Given the description of an element on the screen output the (x, y) to click on. 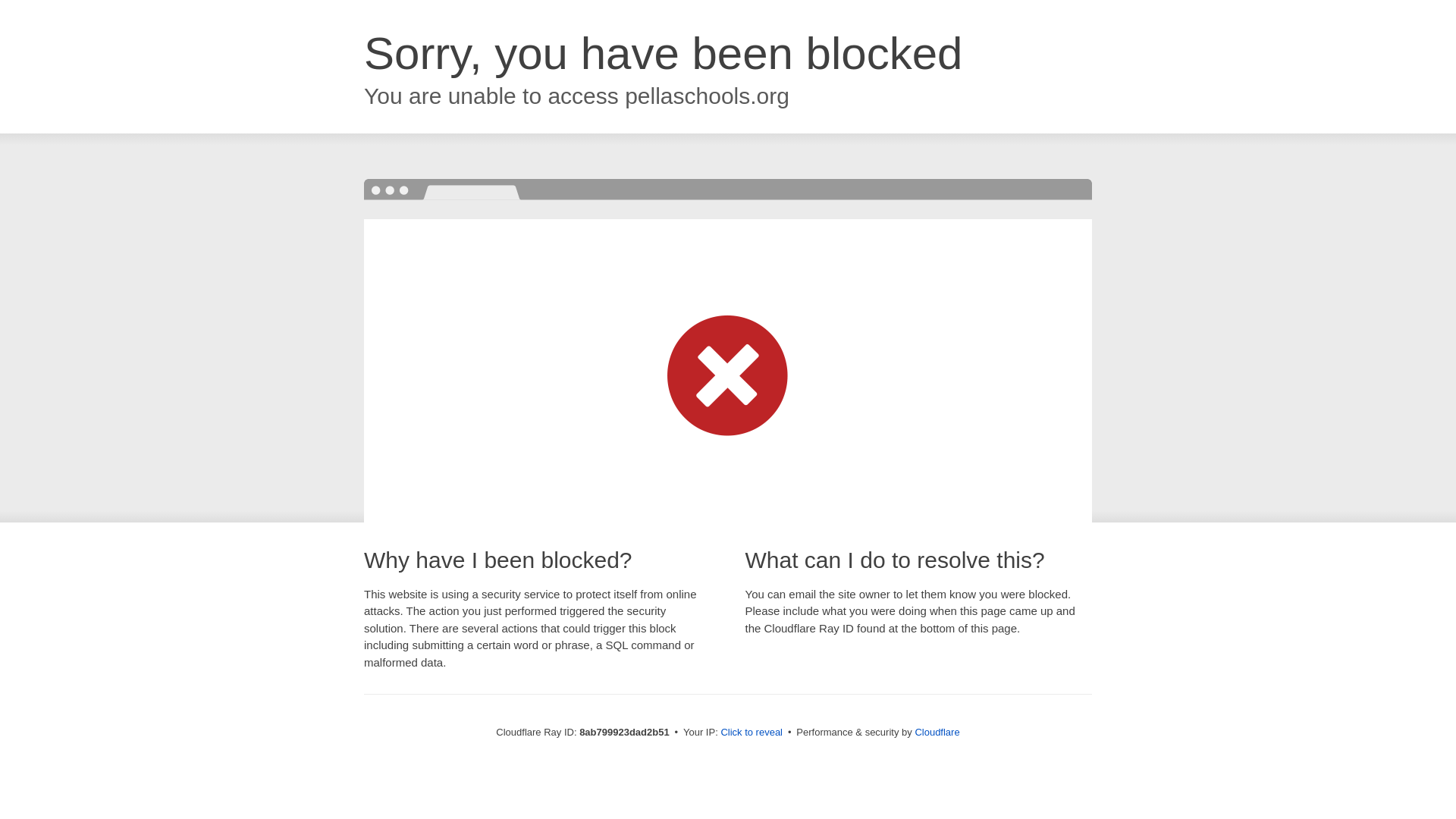
Click to reveal (751, 732)
Cloudflare (936, 731)
